Given the description of an element on the screen output the (x, y) to click on. 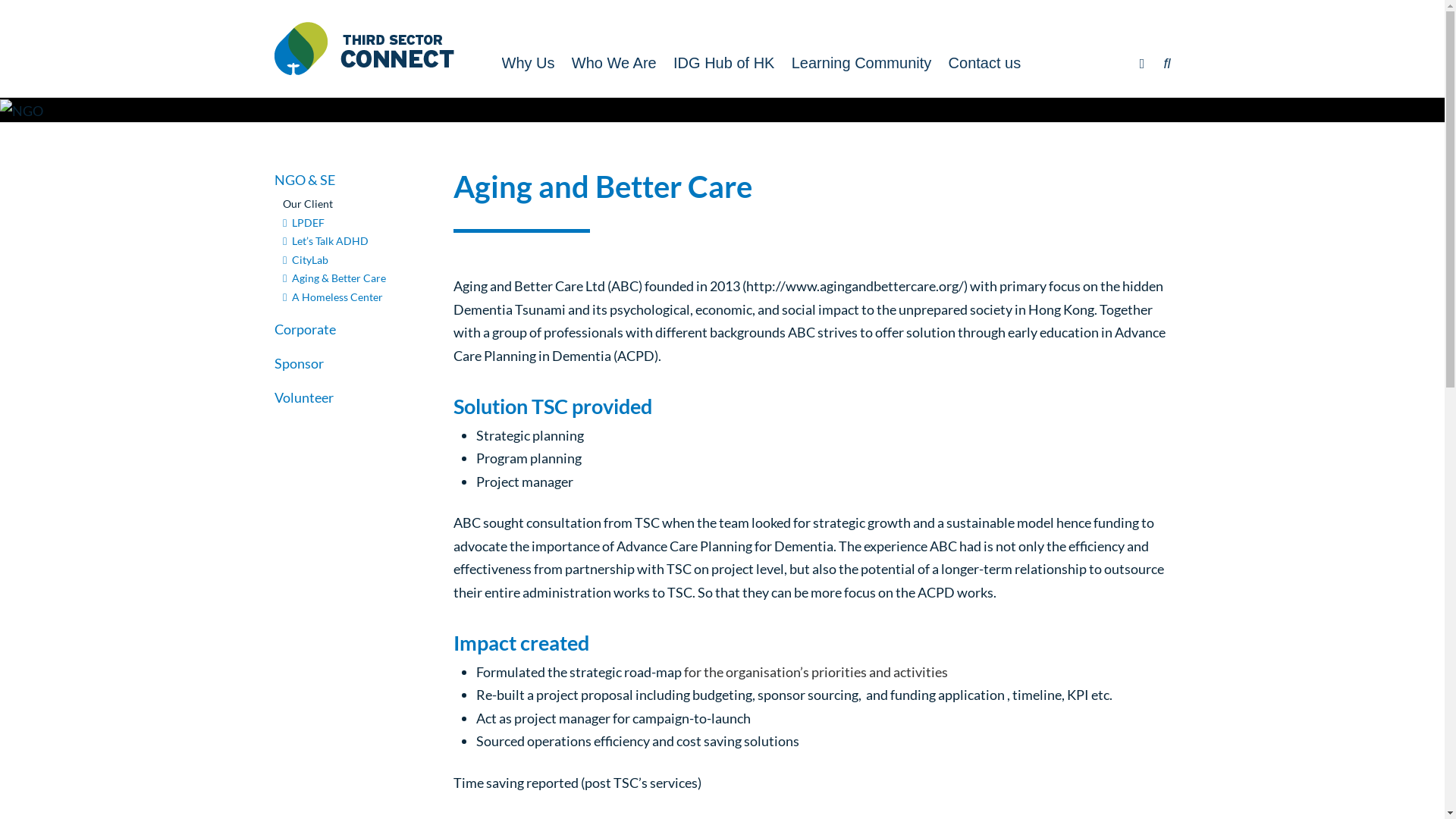
Corporate Element type: text (304, 328)
NGO & SE Element type: text (304, 179)
Aging & Better Care Element type: text (333, 277)
Why Us Element type: text (527, 62)
IDG Hub of HK Element type: text (723, 62)
Sponsor Element type: text (298, 362)
Learning Community Element type: text (860, 62)
CityLab Element type: text (305, 259)
LPDEF Element type: text (303, 222)
Volunteer Element type: text (303, 396)
Who We Are Element type: text (613, 62)
A Homeless Center Element type: text (332, 296)
Contact us Element type: text (983, 62)
